Given the description of an element on the screen output the (x, y) to click on. 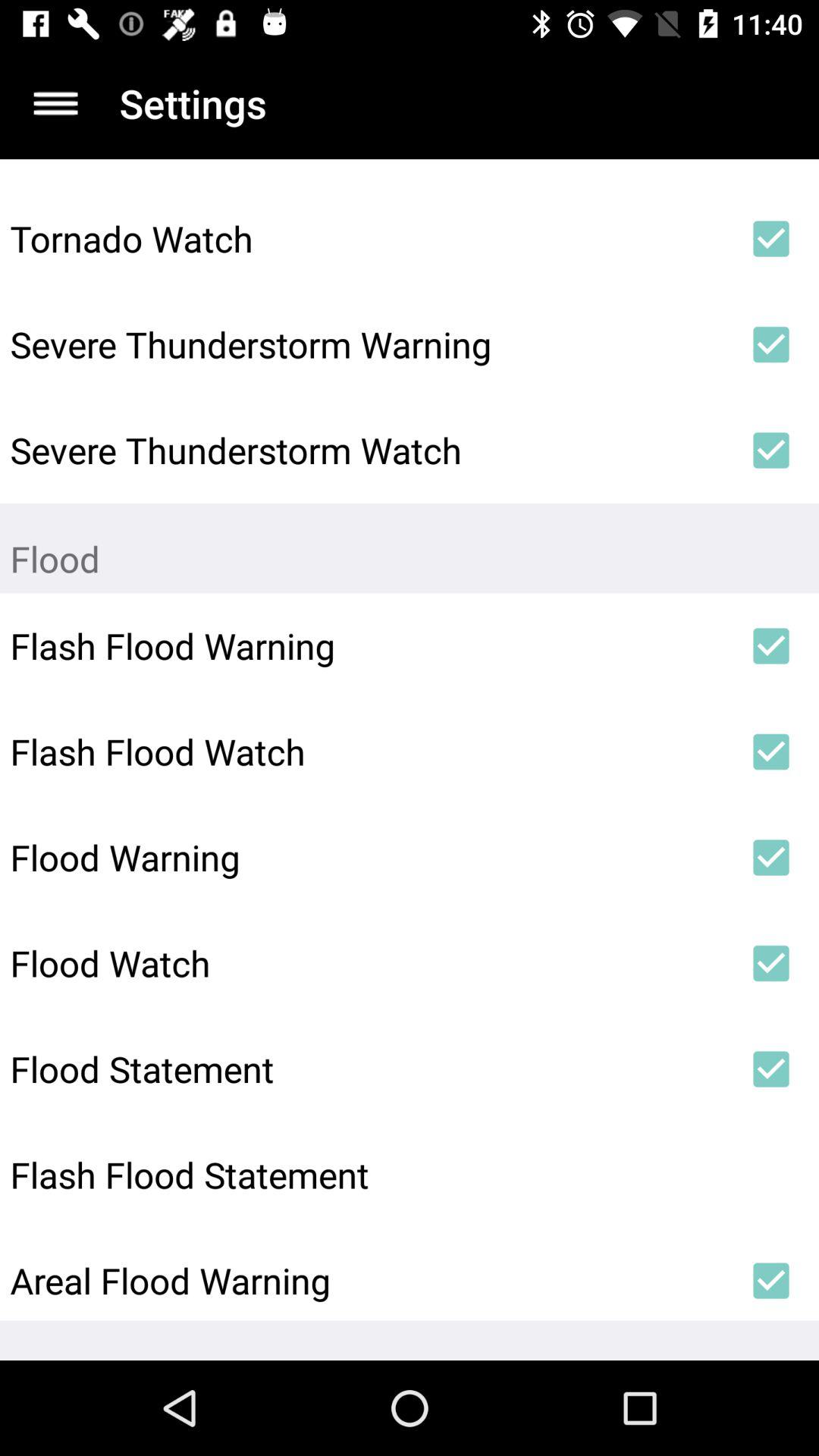
open item next to the flash flood watch (771, 751)
